Given the description of an element on the screen output the (x, y) to click on. 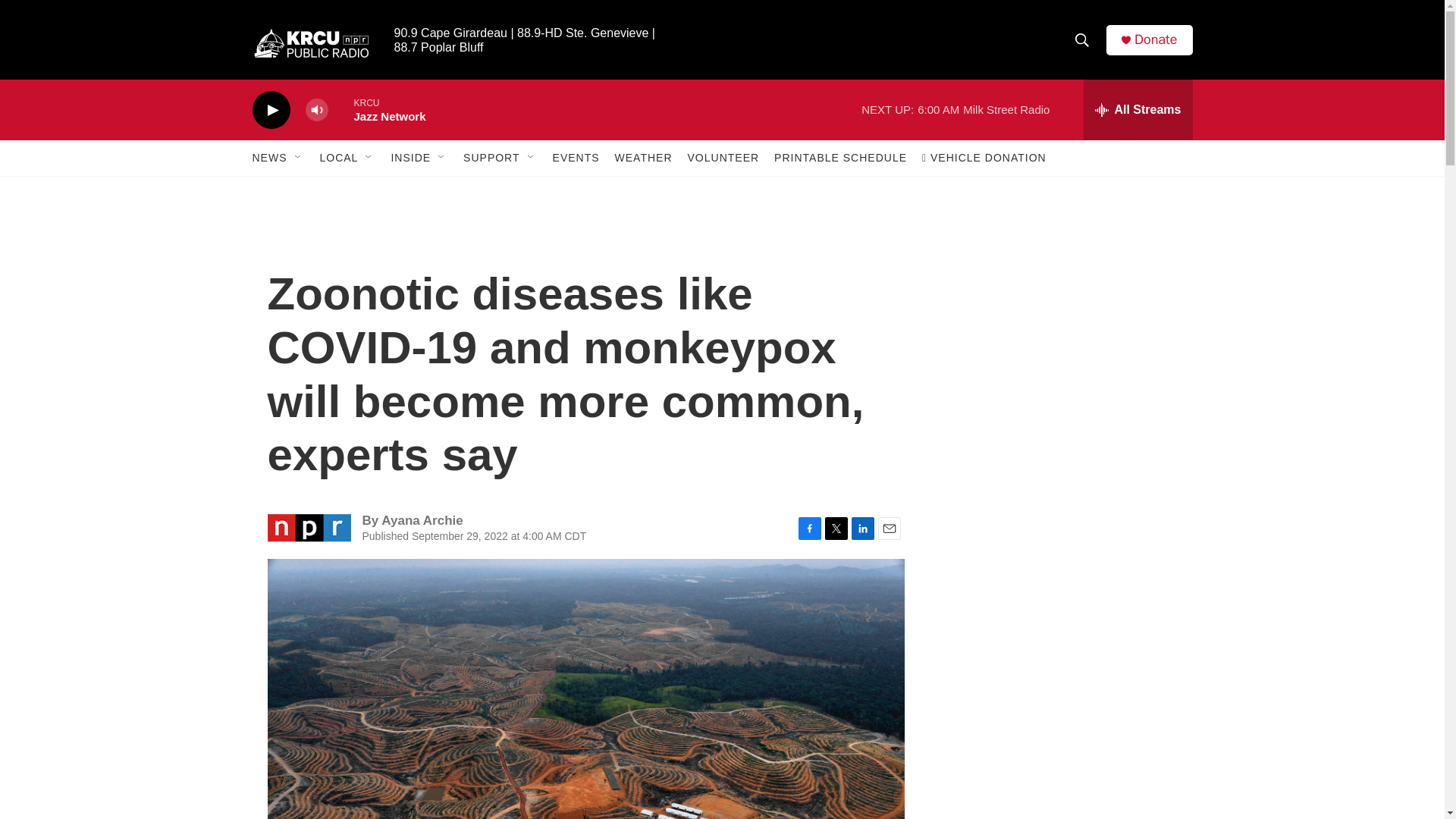
3rd party ad content (1062, 536)
3rd party ad content (1062, 316)
3rd party ad content (1063, 740)
